Given the description of an element on the screen output the (x, y) to click on. 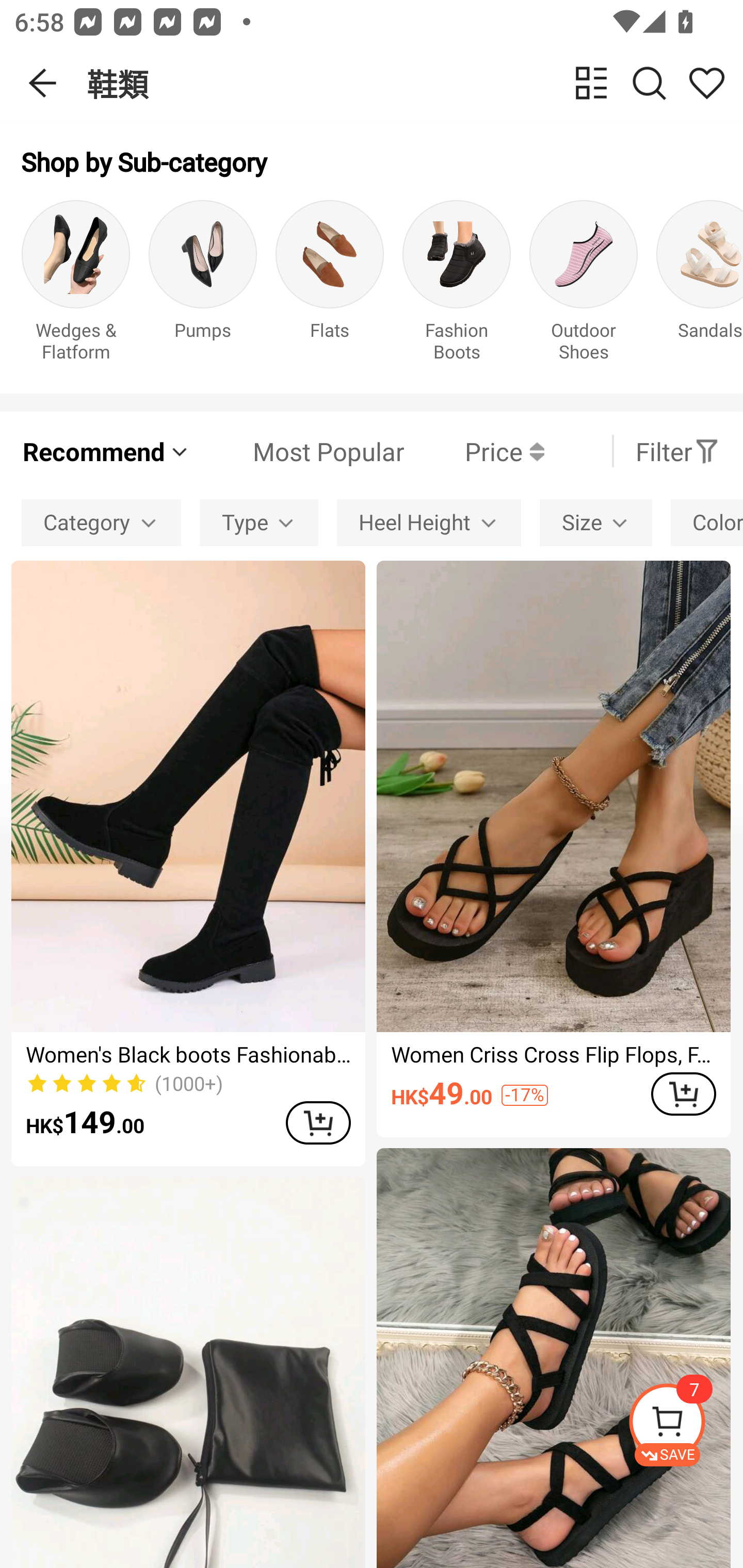
鞋類 change view Search Share (414, 82)
change view (591, 82)
Search (648, 82)
Share (706, 82)
Wedges & Flatform (75, 285)
Pumps (202, 285)
Flats (329, 285)
Fashion Boots (456, 285)
Outdoor Shoes (583, 285)
Sandals (699, 285)
Recommend (106, 450)
Most Popular (297, 450)
Price (474, 450)
Filter (677, 450)
Category (101, 521)
Type (258, 521)
Heel Height (428, 521)
Size (595, 521)
ADD TO CART (683, 1094)
ADD TO CART (318, 1122)
SAVE (685, 1424)
